Given the description of an element on the screen output the (x, y) to click on. 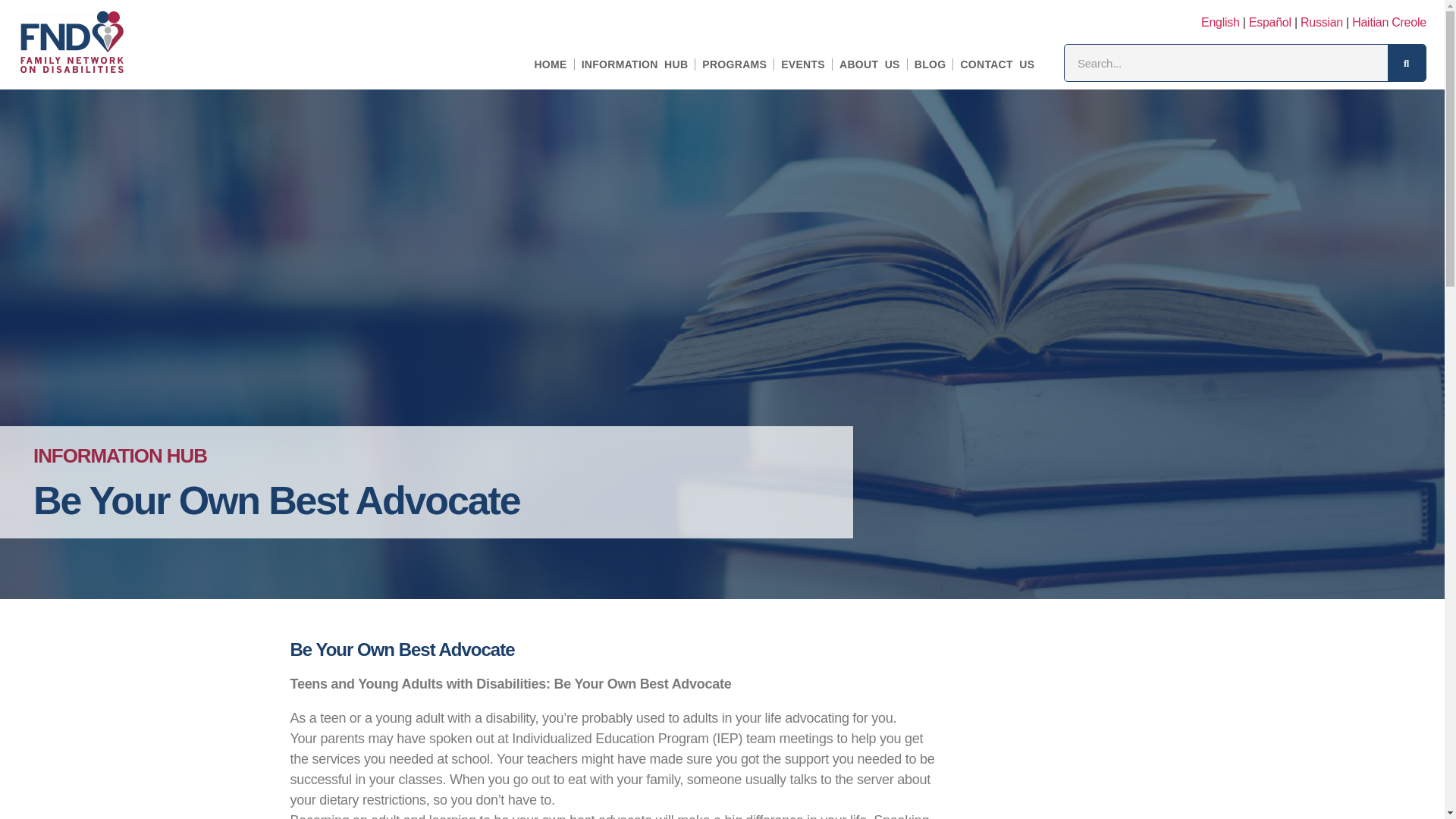
Russian (1321, 22)
FND-LOG-White-Drop (71, 41)
INFORMATION HUB (635, 63)
EVENTS (803, 63)
CONTACT US (996, 63)
Spanish (1270, 22)
ABOUT US (869, 63)
English (1220, 22)
PROGRAMS (733, 63)
HOME (549, 63)
